Given the description of an element on the screen output the (x, y) to click on. 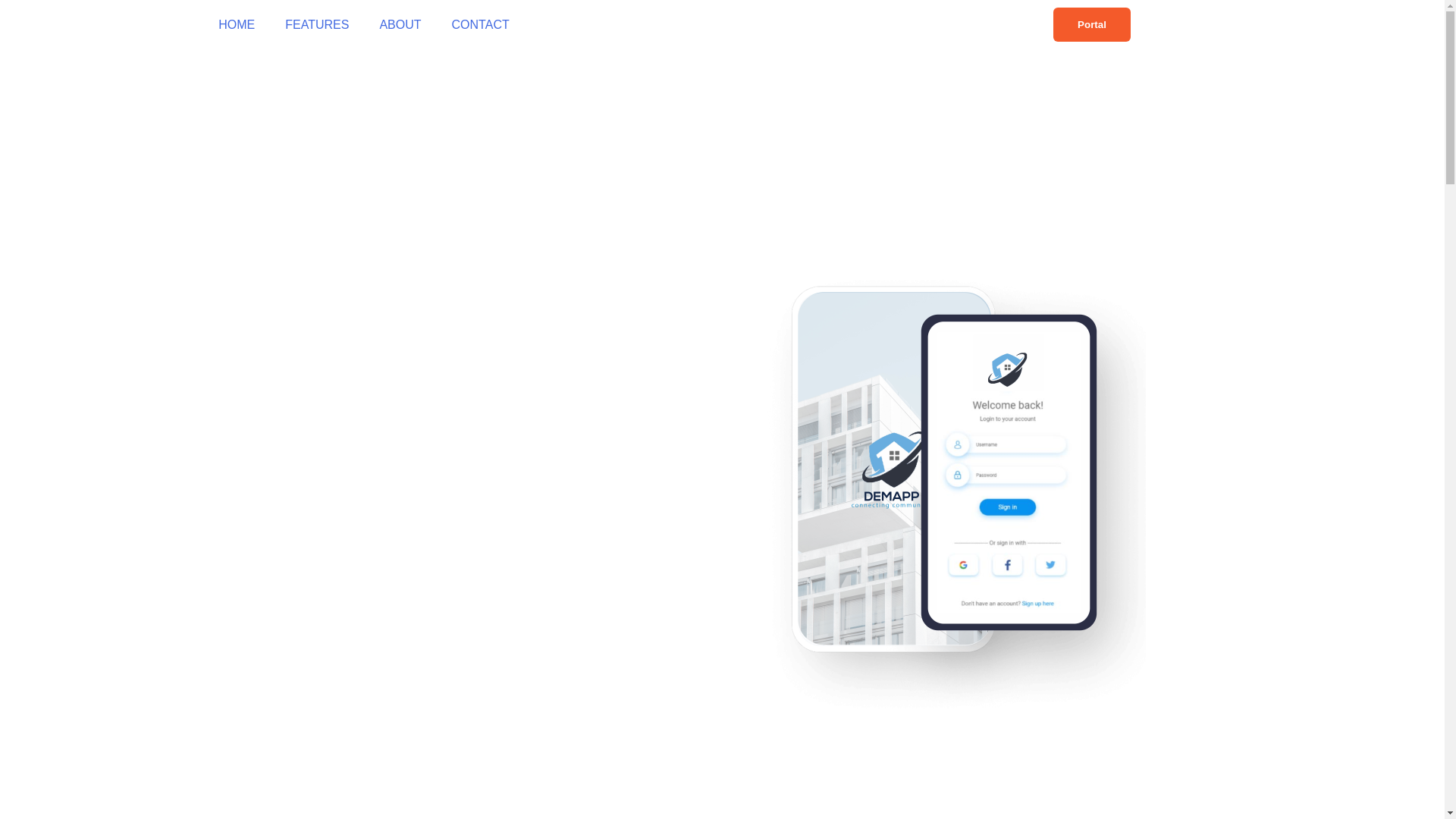
ABOUT (399, 24)
HOME (236, 24)
FEATURES (316, 24)
CONTACT (480, 24)
Portal (1091, 24)
